Given the description of an element on the screen output the (x, y) to click on. 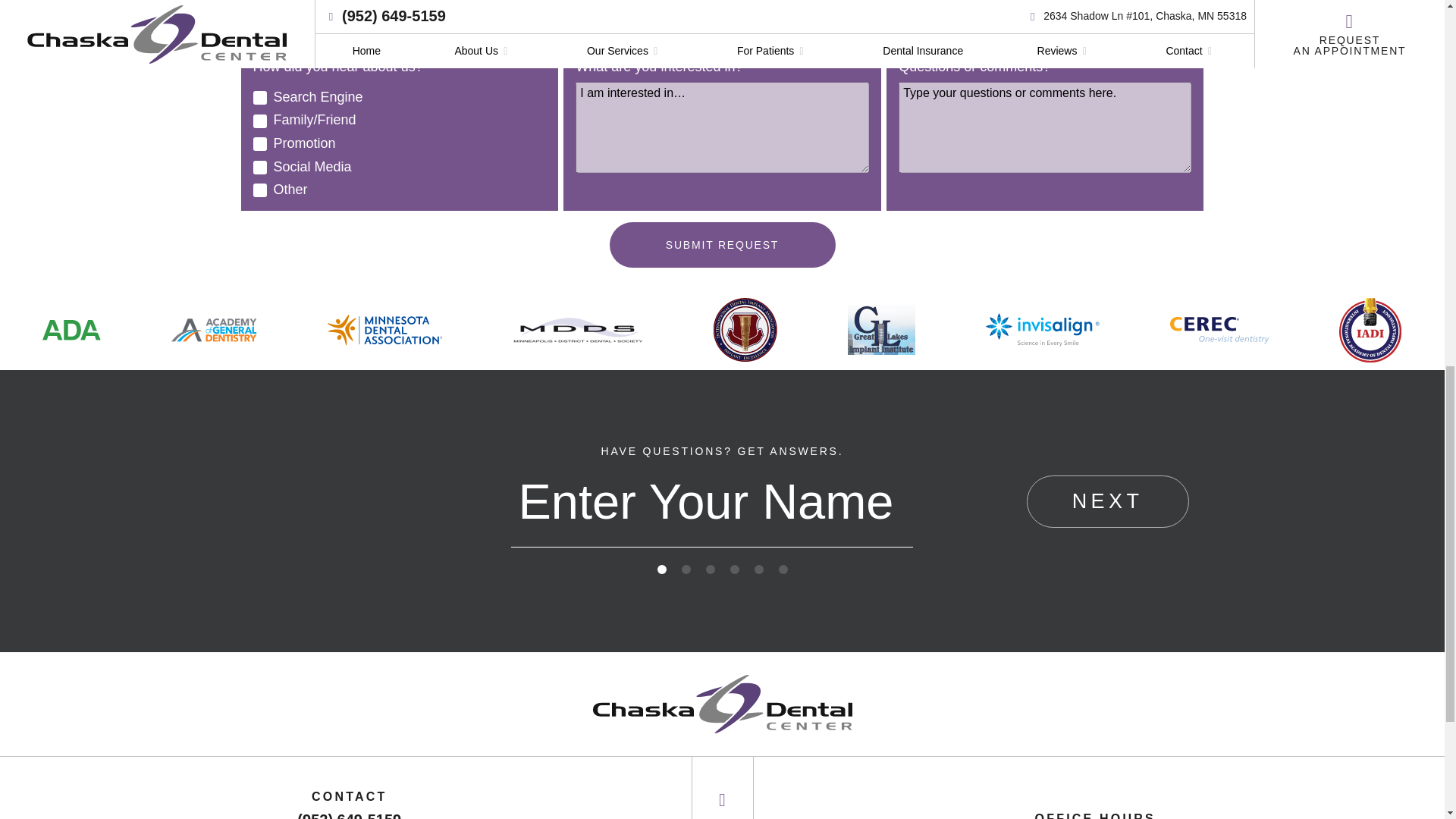
Social Media (259, 167)
Thursday (582, 4)
Promotion (259, 143)
Other (259, 190)
Search Engine (259, 97)
Friday (582, 24)
Submit Request (722, 244)
